Given the description of an element on the screen output the (x, y) to click on. 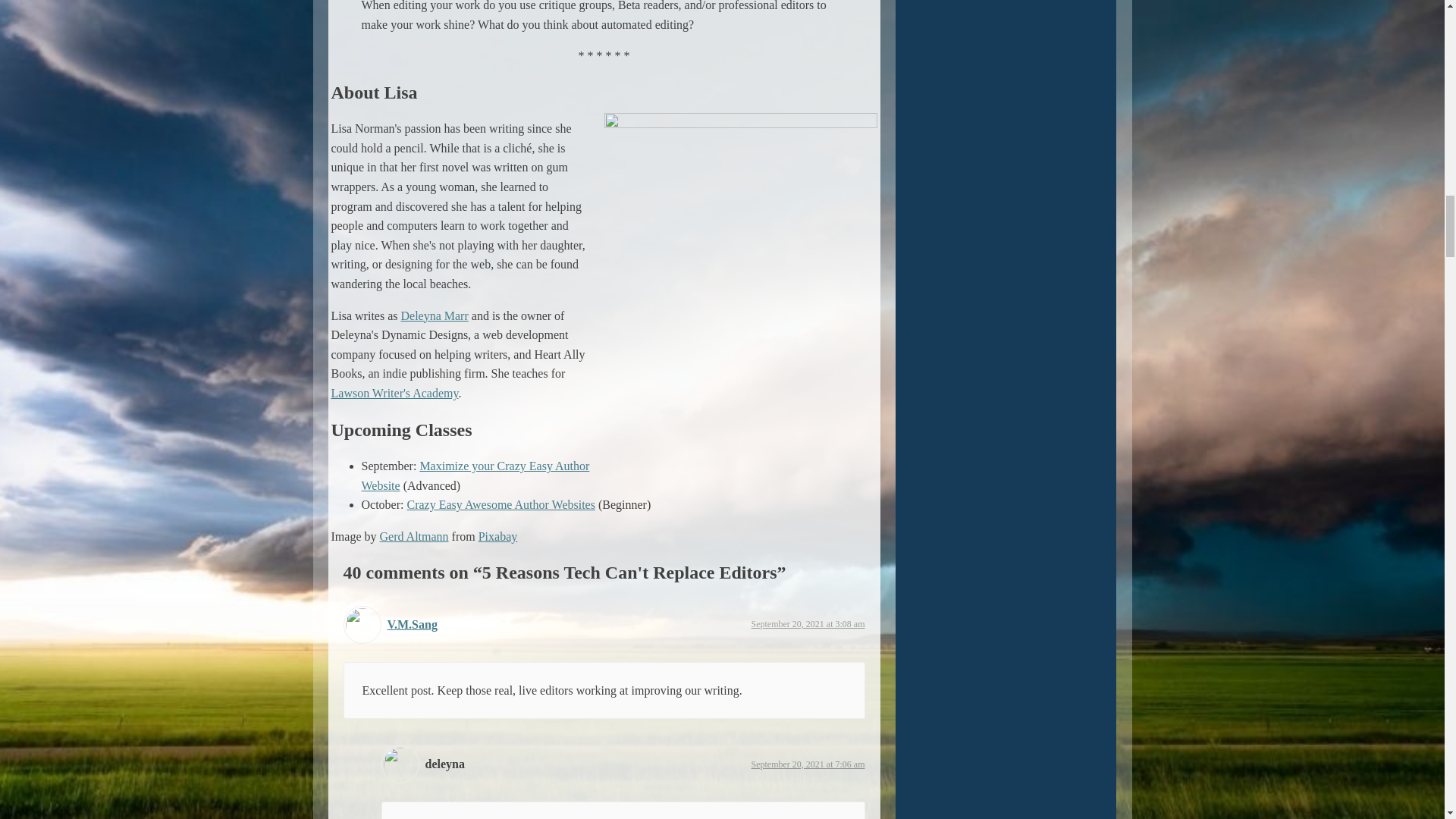
September 20, 2021 at 7:06 am (807, 764)
V.M.Sang (411, 624)
Maximize your Crazy Easy Author Website (475, 475)
Crazy Easy Awesome Author Websites (500, 504)
Lawson Writer's Academy (394, 392)
Deleyna Marr (433, 315)
Gerd Altmann (413, 535)
Pixabay (498, 535)
September 20, 2021 at 3:08 am (807, 624)
